Given the description of an element on the screen output the (x, y) to click on. 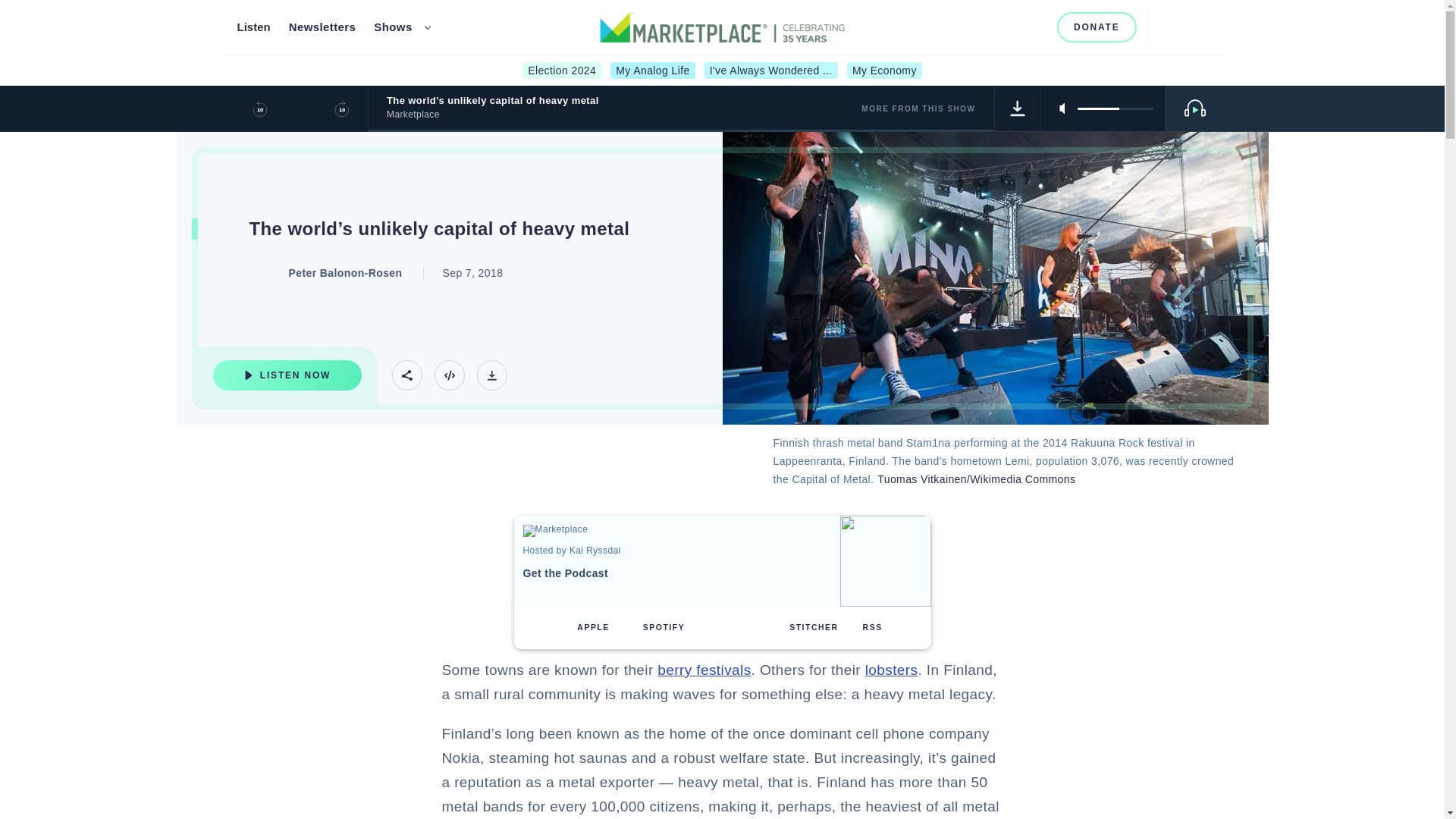
Shows (393, 26)
Download Track (1017, 108)
Instagram (985, 27)
Listen Now (286, 374)
Download Track (491, 374)
Listen (252, 26)
Menu (1198, 27)
Newsletters (322, 27)
Youtube (1011, 27)
Search (1164, 27)
volume (1115, 108)
DONATE (1097, 27)
TikTok (1035, 27)
5 (1115, 108)
